Given the description of an element on the screen output the (x, y) to click on. 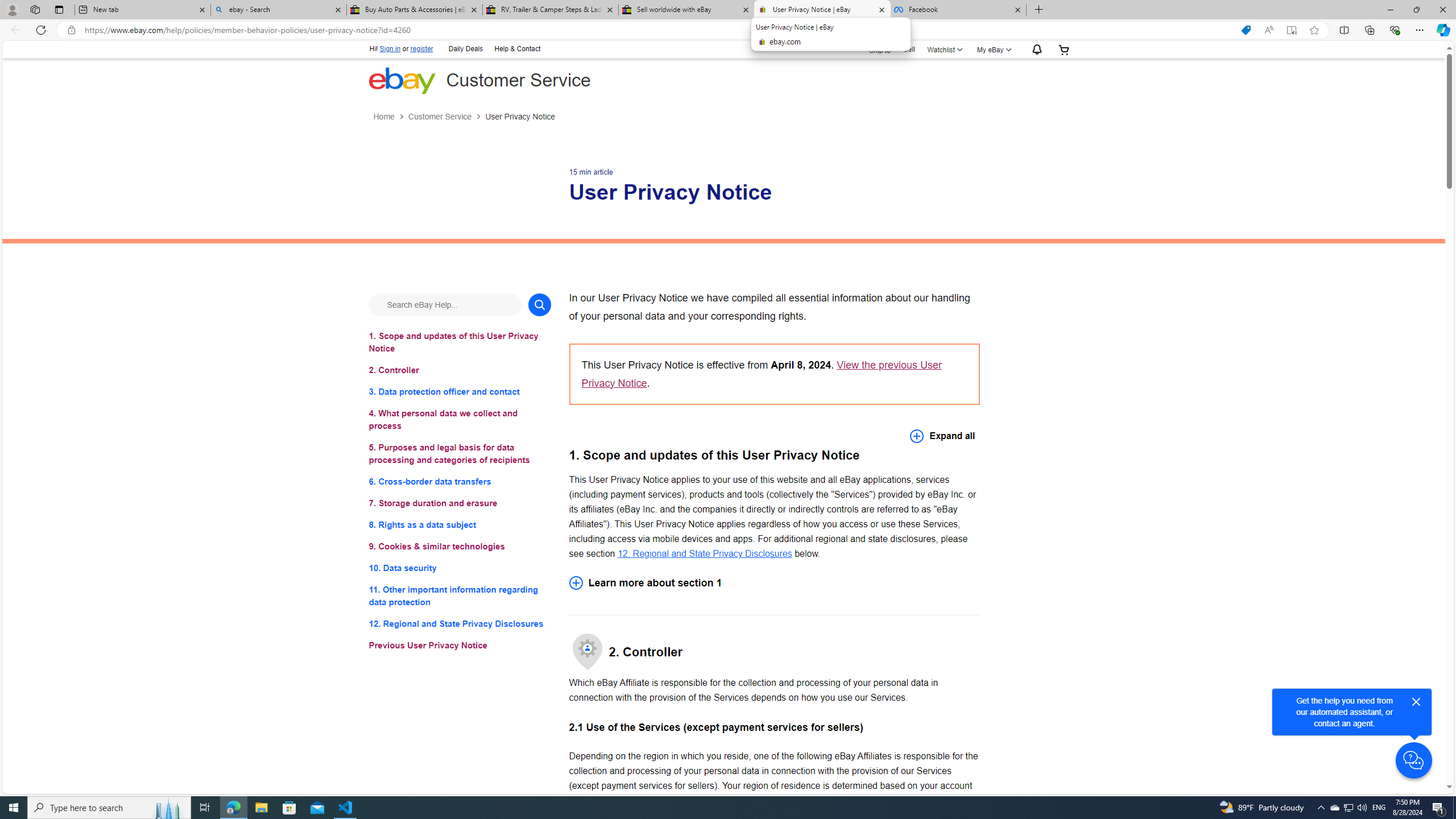
WatchlistExpand Watch List (943, 49)
Expand Cart (1064, 49)
This site has coupons! Shopping in Microsoft Edge (1245, 29)
View the previous User Privacy Notice (761, 373)
11. Other important information regarding data protection (459, 596)
RV, Trailer & Camper Steps & Ladders for sale | eBay (550, 9)
Sell (909, 49)
Customer Service (439, 117)
ebay - Search (277, 9)
Facebook (957, 9)
12. Regional and State Privacy Disclosures (459, 623)
